Given the description of an element on the screen output the (x, y) to click on. 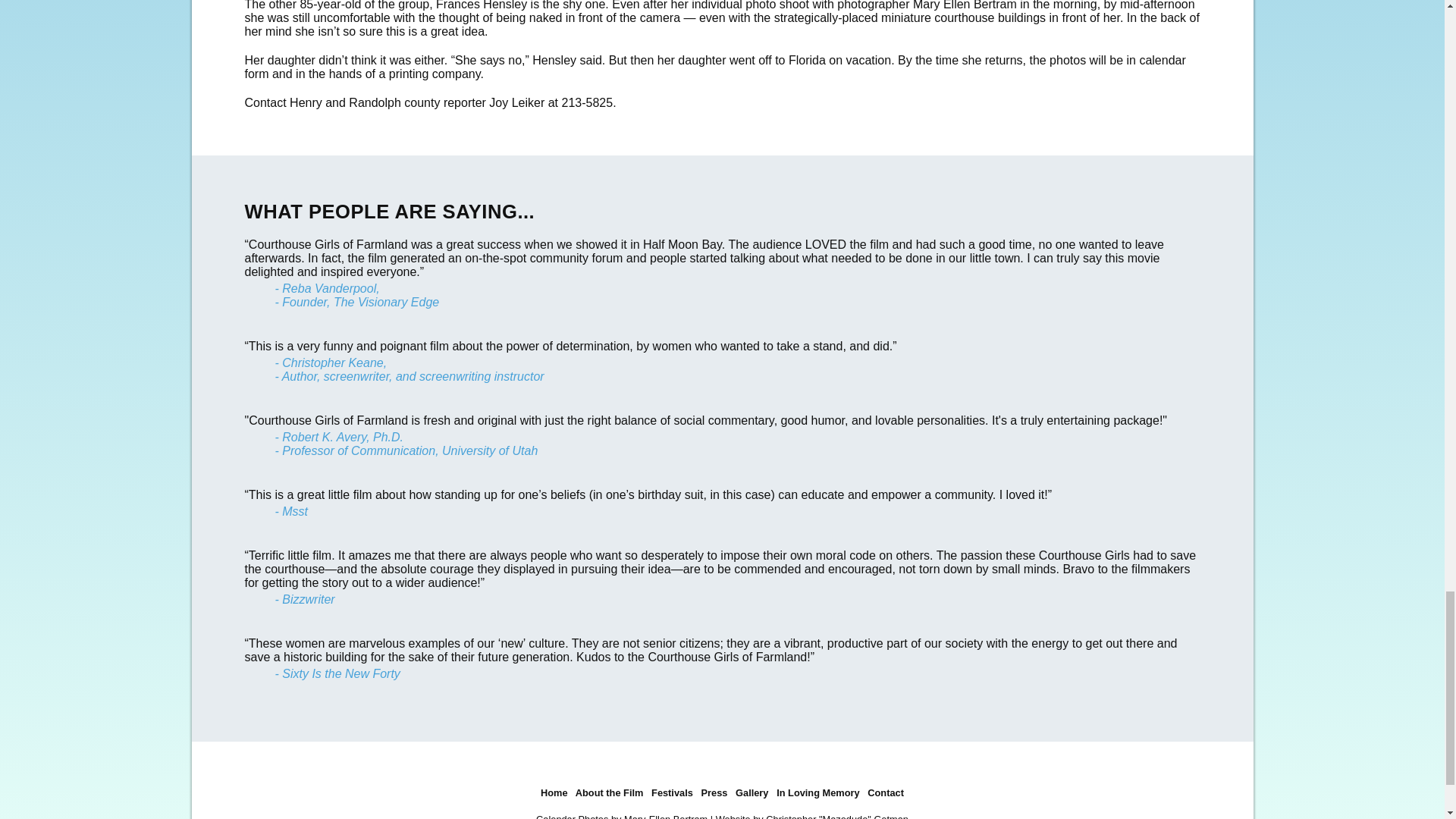
In Loving Memory (818, 792)
About the Film (609, 792)
Contact (885, 792)
Gallery (751, 792)
Home (553, 792)
"Mazedude" (844, 816)
Press (714, 792)
Mary-Ellen Bertram (665, 816)
Festivals (671, 792)
